Given the description of an element on the screen output the (x, y) to click on. 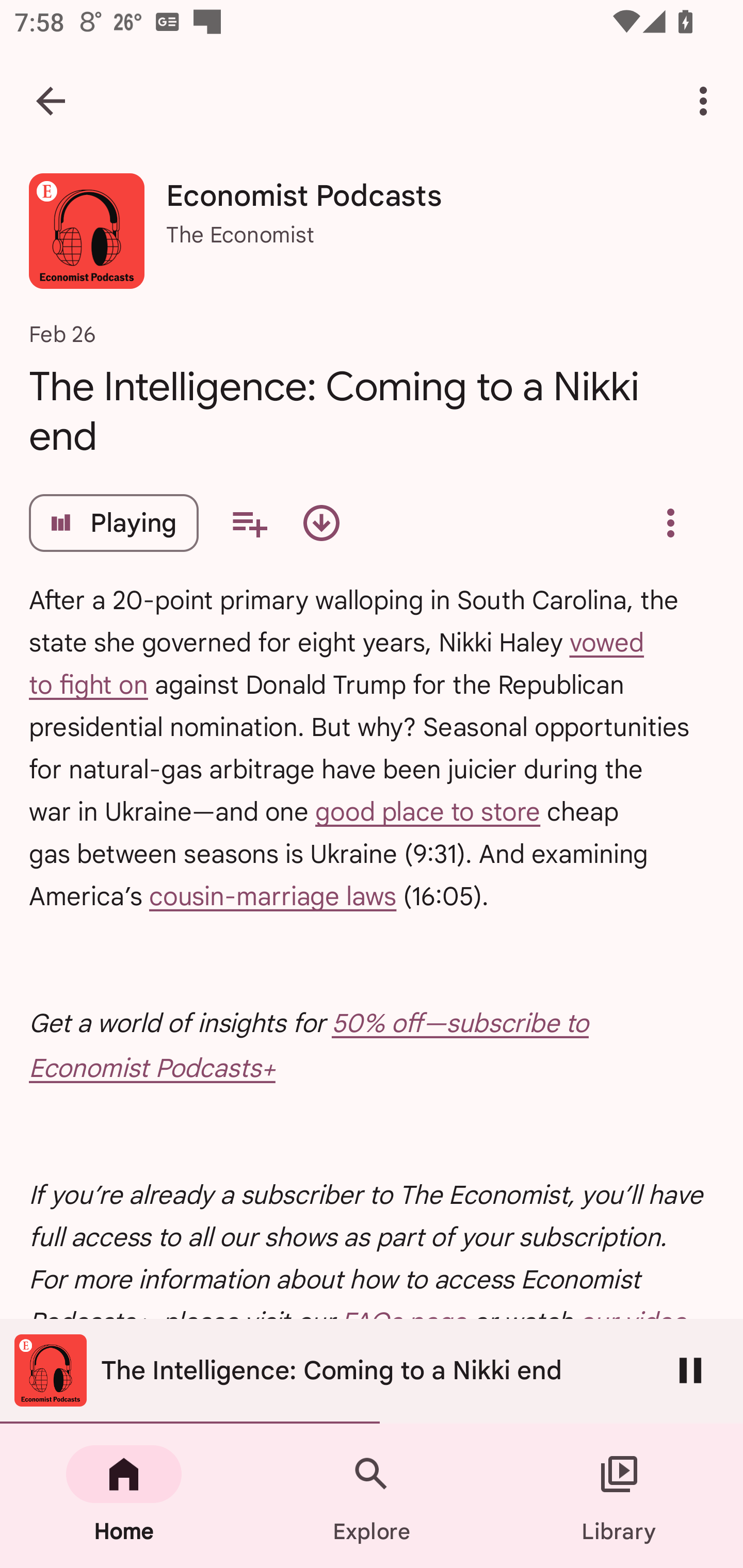
Navigate up (50, 101)
More options (706, 101)
Add to your queue (249, 522)
Download episode (321, 522)
Overflow menu (670, 522)
Pause (690, 1370)
Explore (371, 1495)
Library (619, 1495)
